Given the description of an element on the screen output the (x, y) to click on. 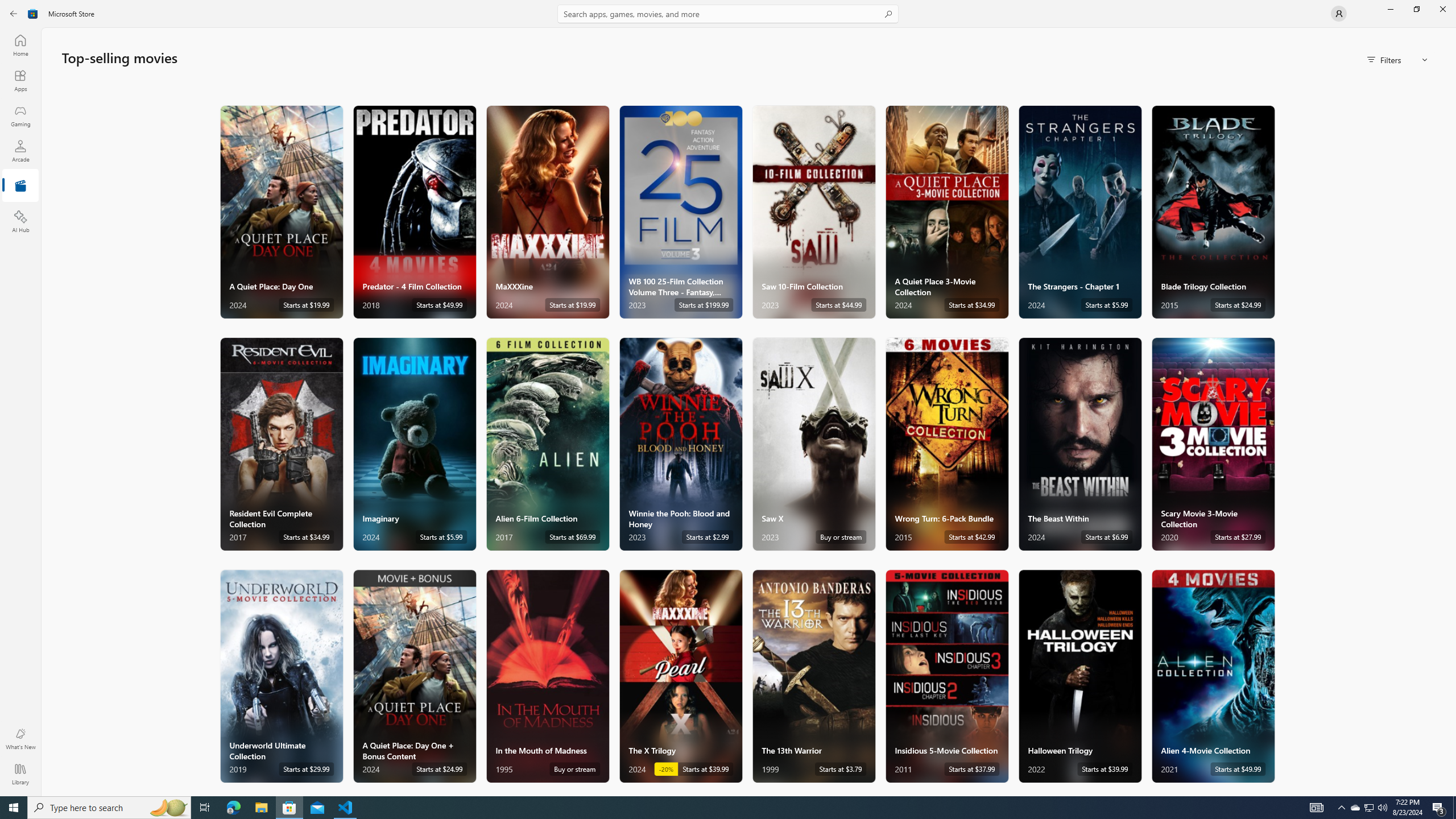
The 13th Warrior. Starts at $3.79   (813, 675)
What's New (20, 738)
A Quiet Place: Day One + Bonus Content. Starts at $24.99   (414, 675)
Close Microsoft Store (1442, 9)
Arcade (20, 150)
AutomationID: NavigationControl (728, 398)
AI Hub (20, 221)
Saw 10-Film Collection. Starts at $44.99   (813, 211)
The Beast Within. Starts at $6.99   (1079, 444)
Gaming (20, 115)
